Given the description of an element on the screen output the (x, y) to click on. 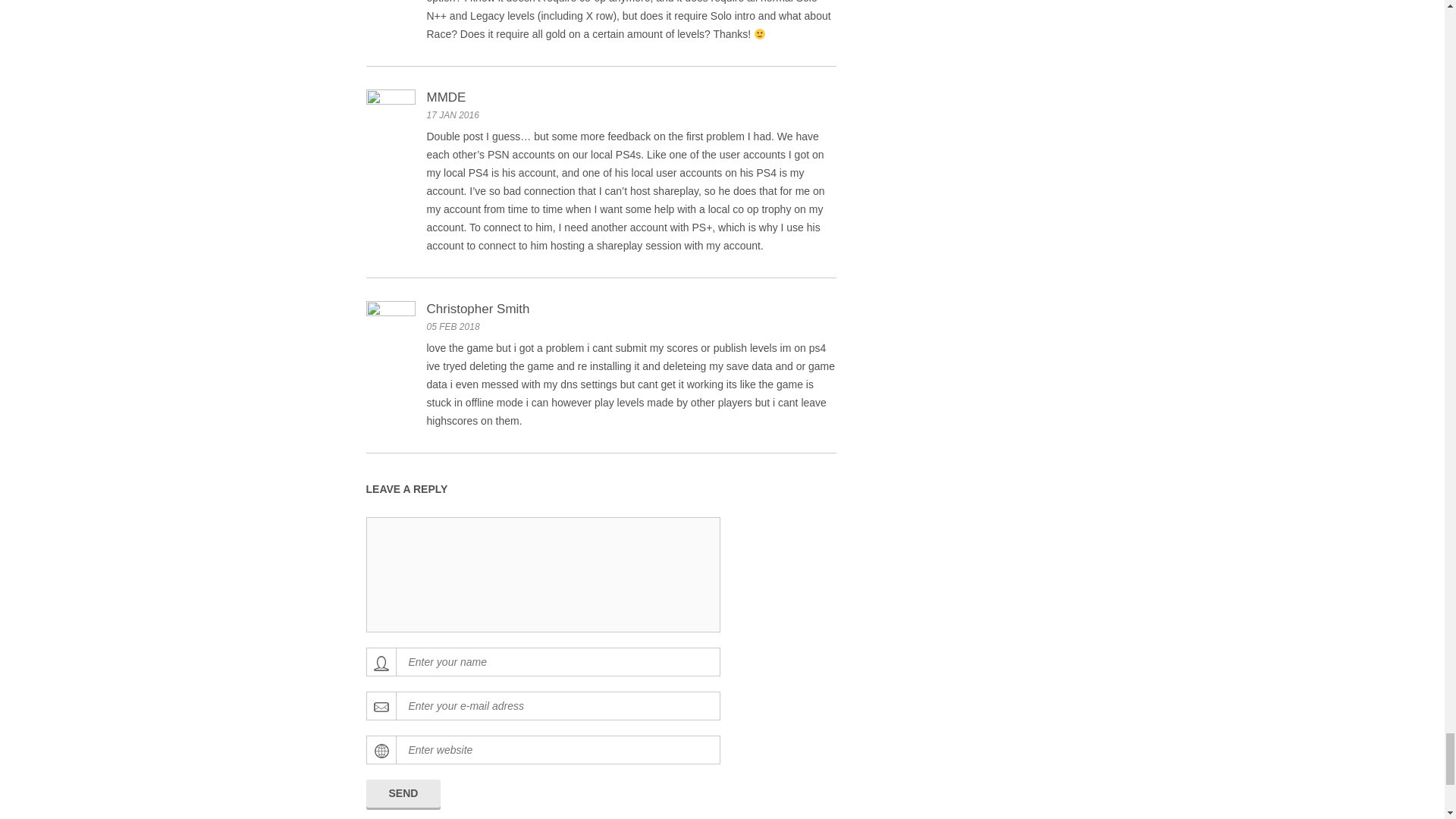
Send (403, 793)
Send (403, 793)
